Given the description of an element on the screen output the (x, y) to click on. 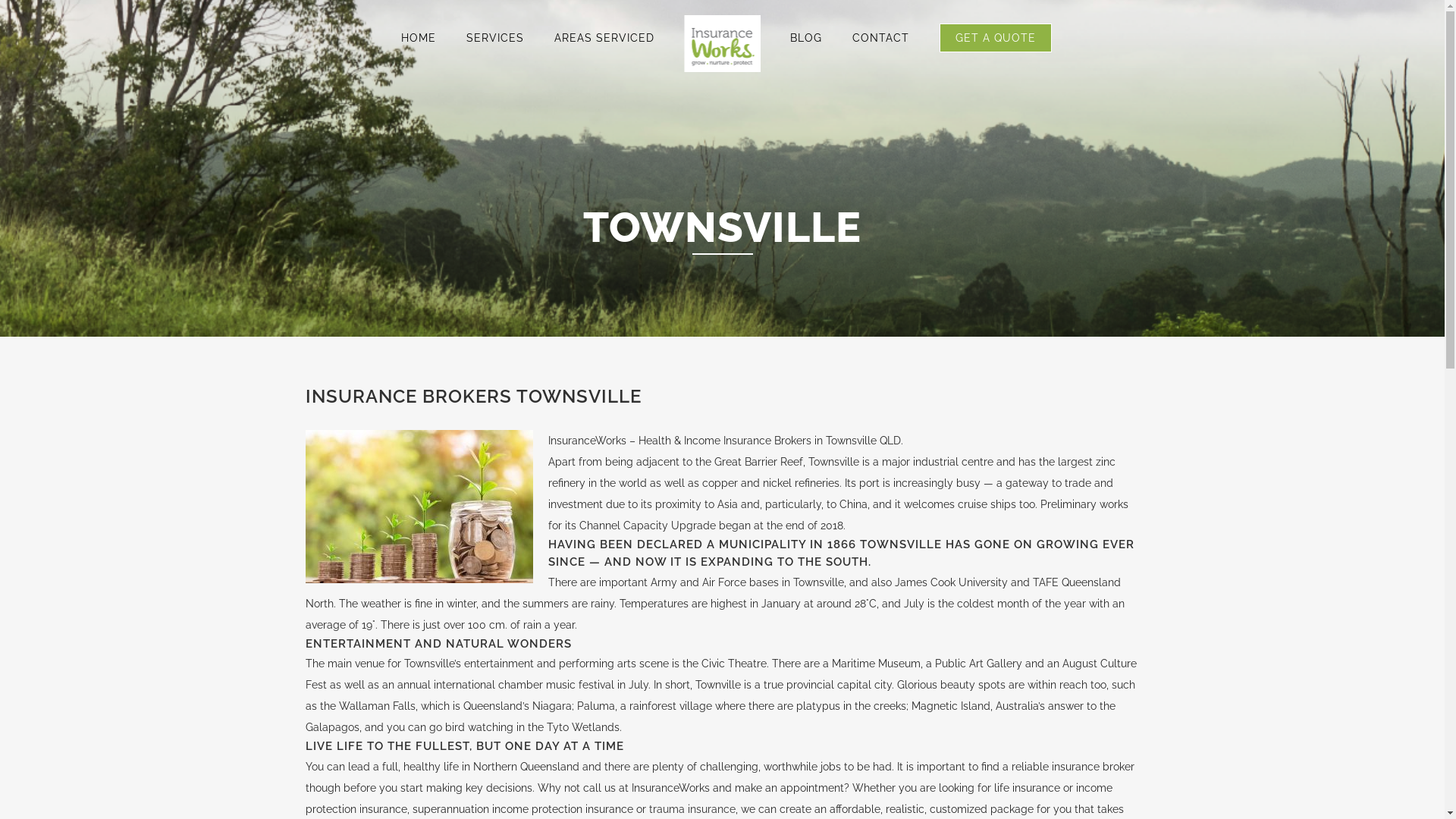
AREAS SERVICED Element type: text (604, 37)
HOME Element type: text (418, 37)
trauma insurance Element type: text (692, 809)
BLOG Element type: text (806, 37)
SERVICES Element type: text (495, 37)
GET A QUOTE Element type: text (995, 37)
CONTACT Element type: text (880, 37)
